Given the description of an element on the screen output the (x, y) to click on. 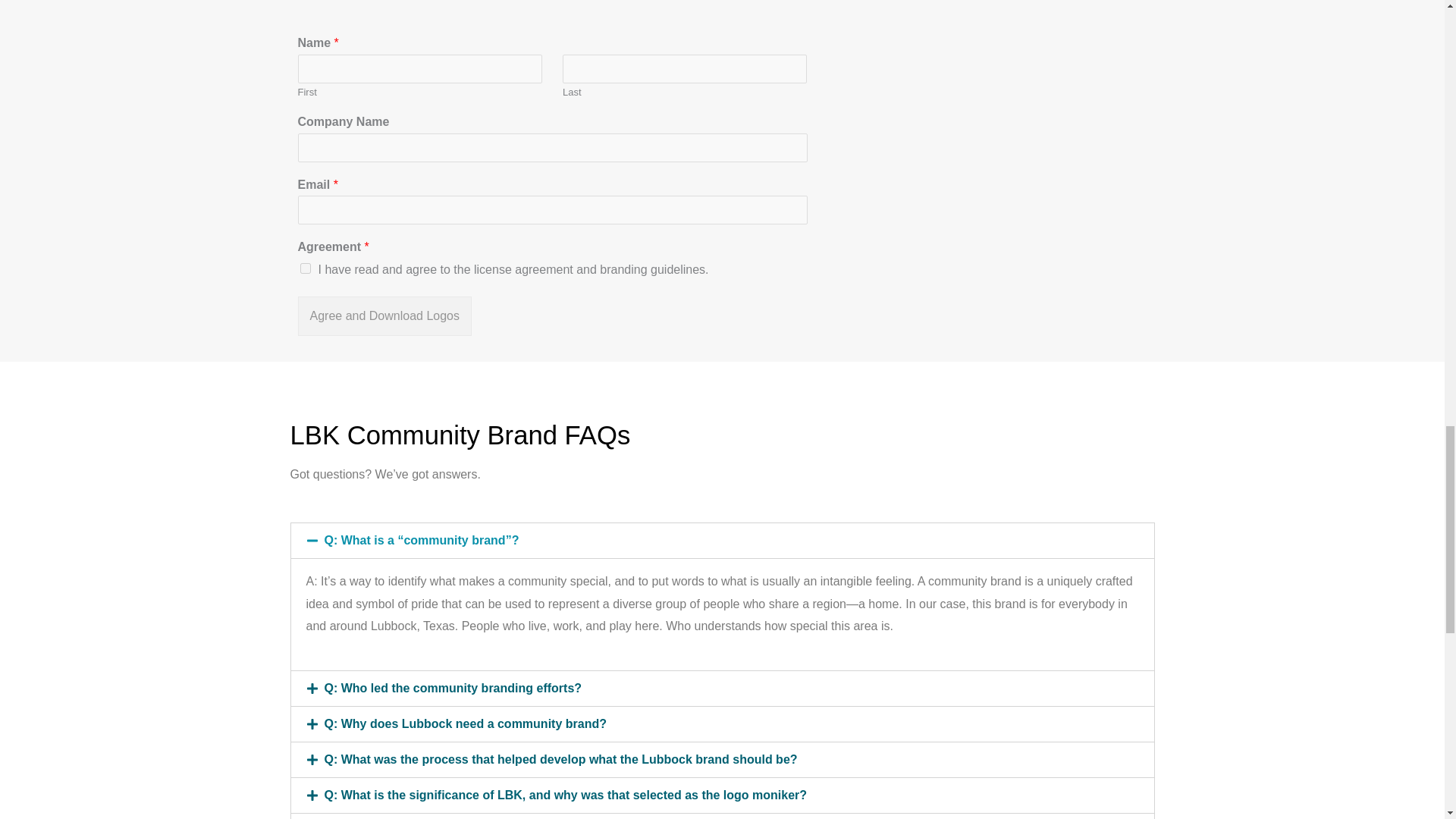
Q: Who led the community branding efforts? (453, 687)
Agree and Download Logos (383, 315)
Q: Why does Lubbock need a community brand? (465, 723)
